Given the description of an element on the screen output the (x, y) to click on. 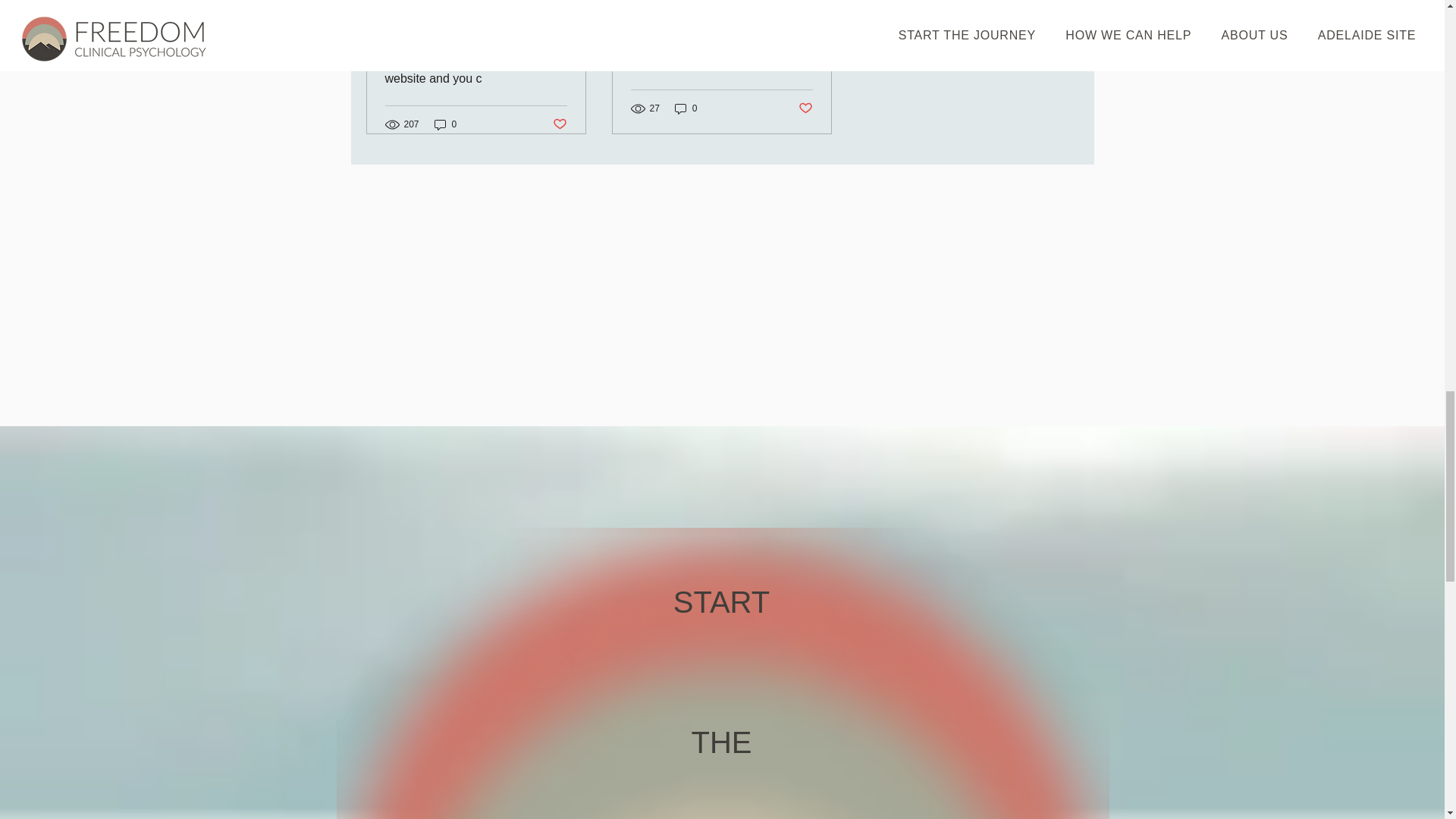
Post not marked as liked (558, 124)
0 (445, 124)
0 (685, 108)
Welcome to our new digital home (721, 55)
Post not marked as liked (804, 108)
